Given the description of an element on the screen output the (x, y) to click on. 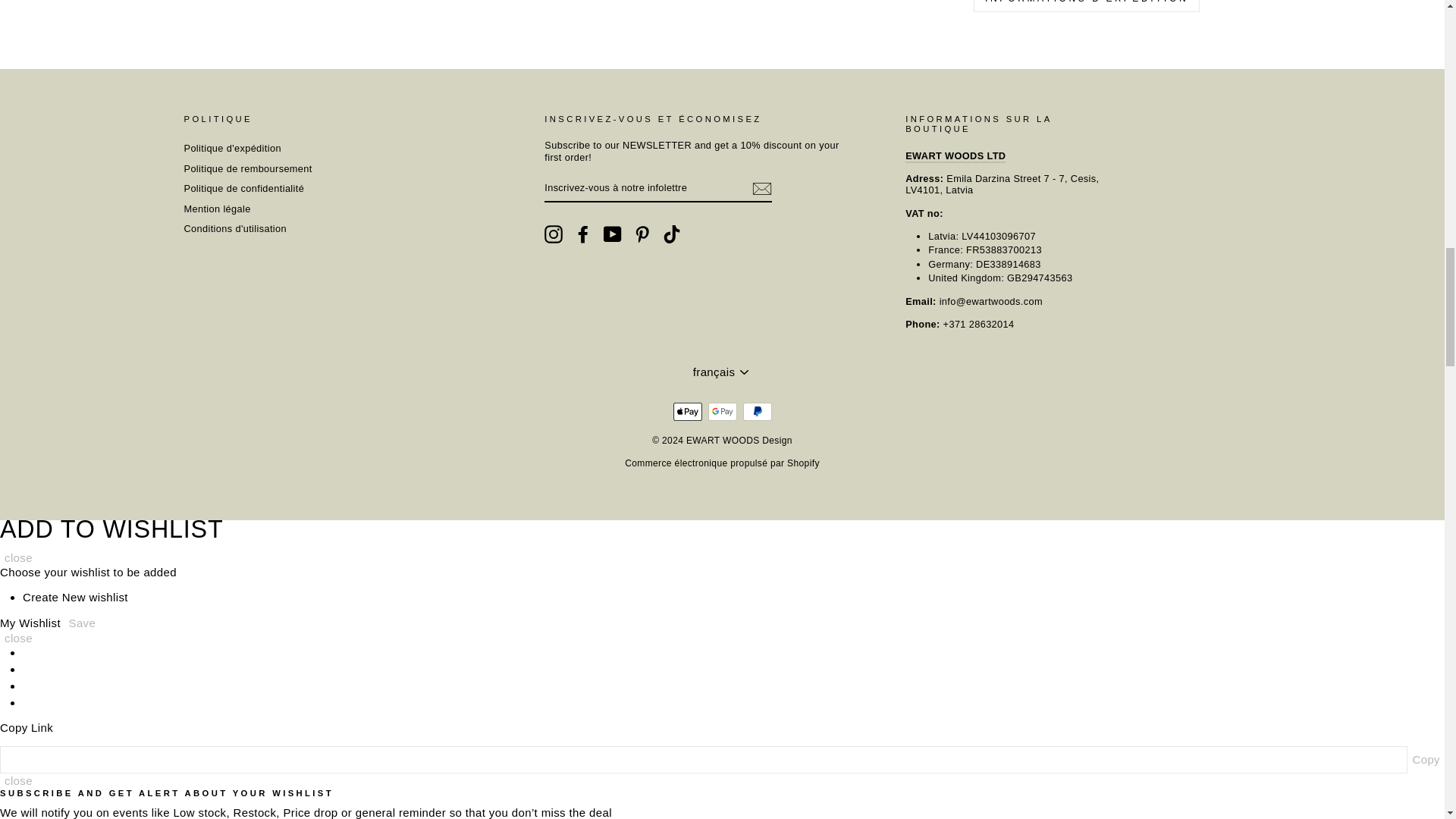
EWART WOODS Design sur Pinterest (641, 234)
EWART WOODS Design sur YouTube (612, 234)
Apple Pay (686, 411)
EWART WOODS Design sur Facebook (582, 234)
EWART WOODS Design sur Instagram (553, 234)
